Given the description of an element on the screen output the (x, y) to click on. 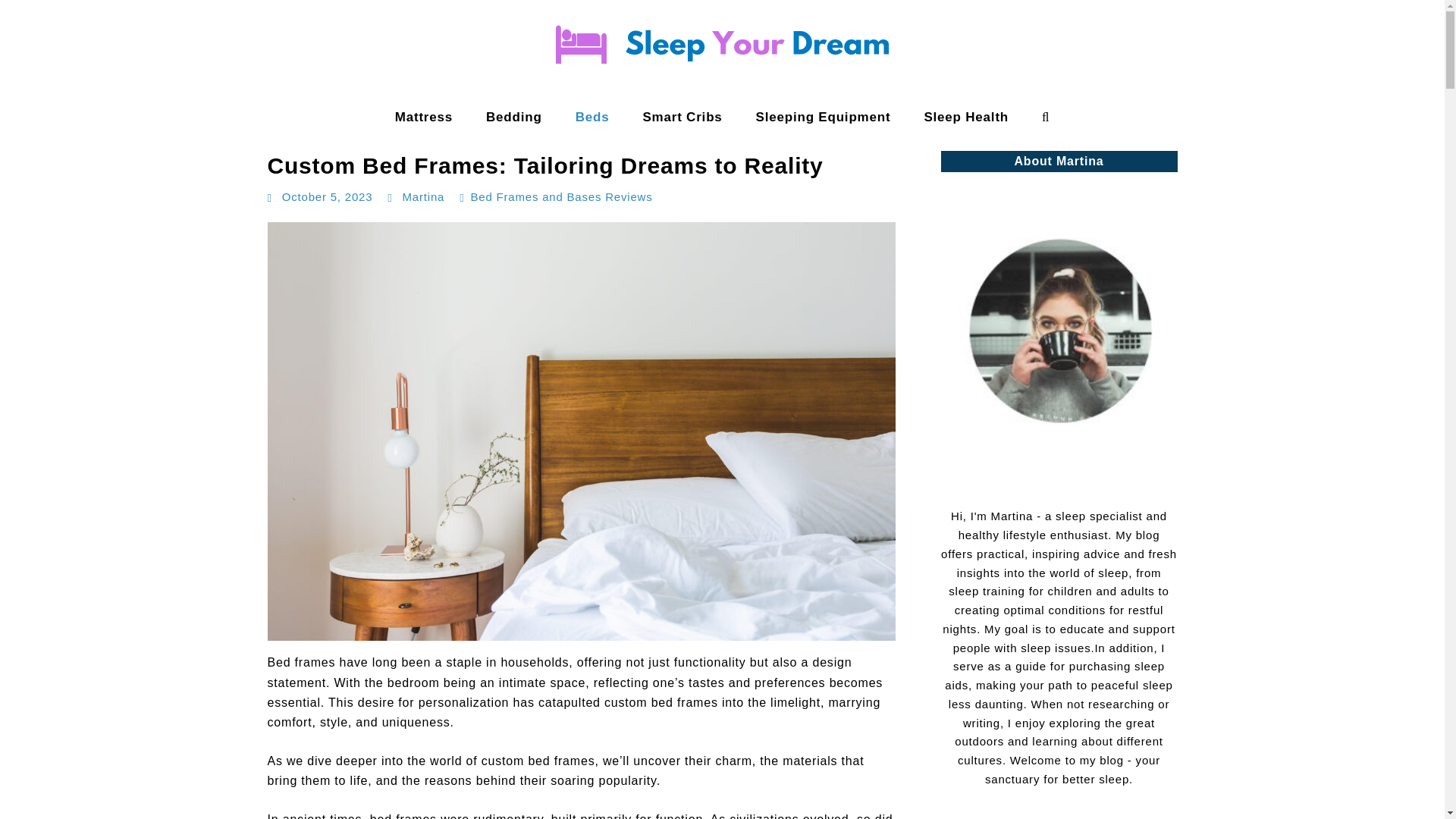
Bedding (513, 117)
Sleep Your Dream (69, 132)
Beds (592, 117)
About Martina (1058, 344)
Mattress (423, 117)
